Given the description of an element on the screen output the (x, y) to click on. 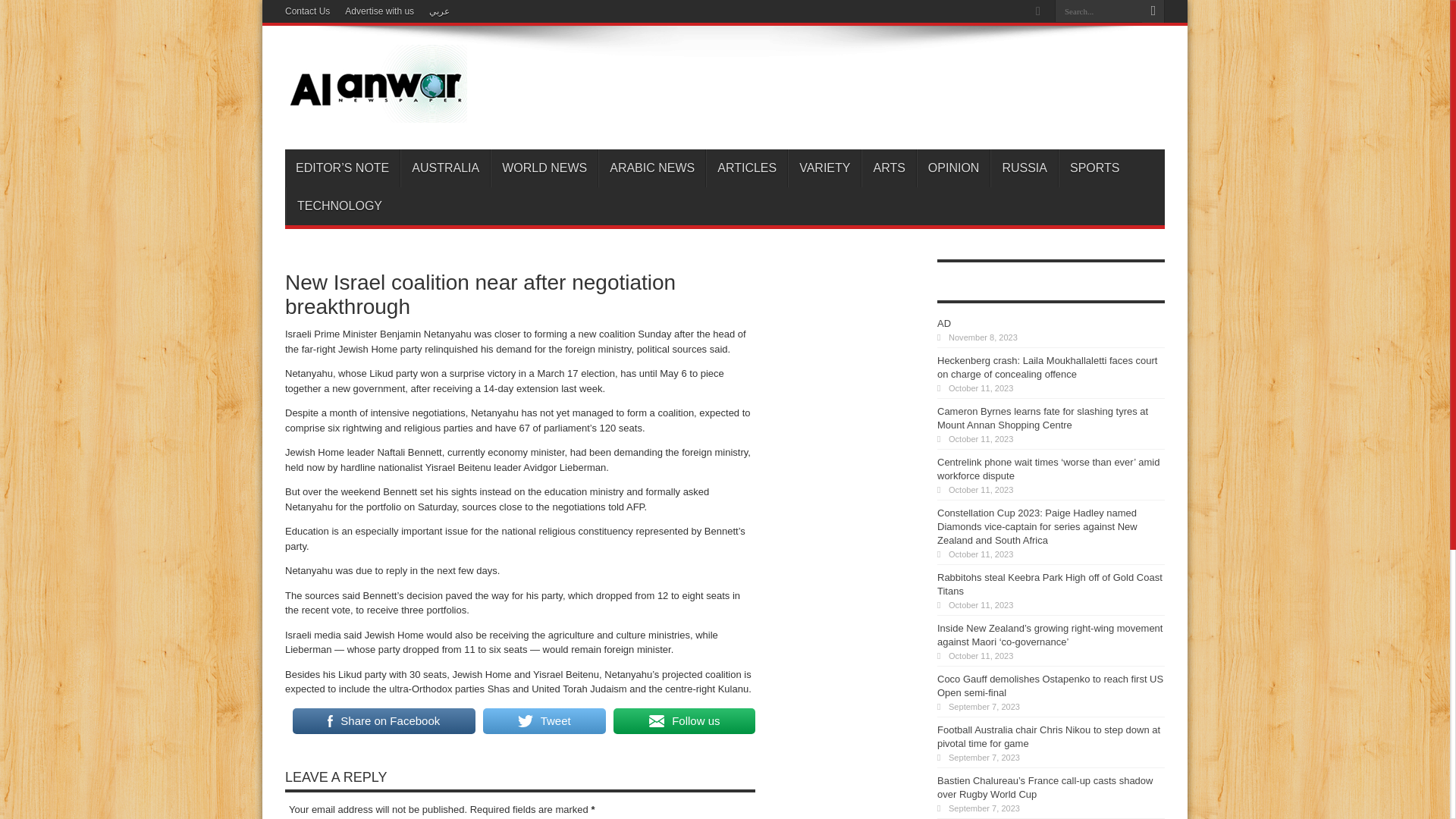
Advertise with us (379, 11)
ARABIC NEWS (651, 168)
ARTS (888, 168)
Search (1152, 11)
ARTICLES (746, 168)
Al-anwar Newspaper (376, 111)
Search... (1097, 11)
Contact Us (307, 11)
VARIETY (823, 168)
